Given the description of an element on the screen output the (x, y) to click on. 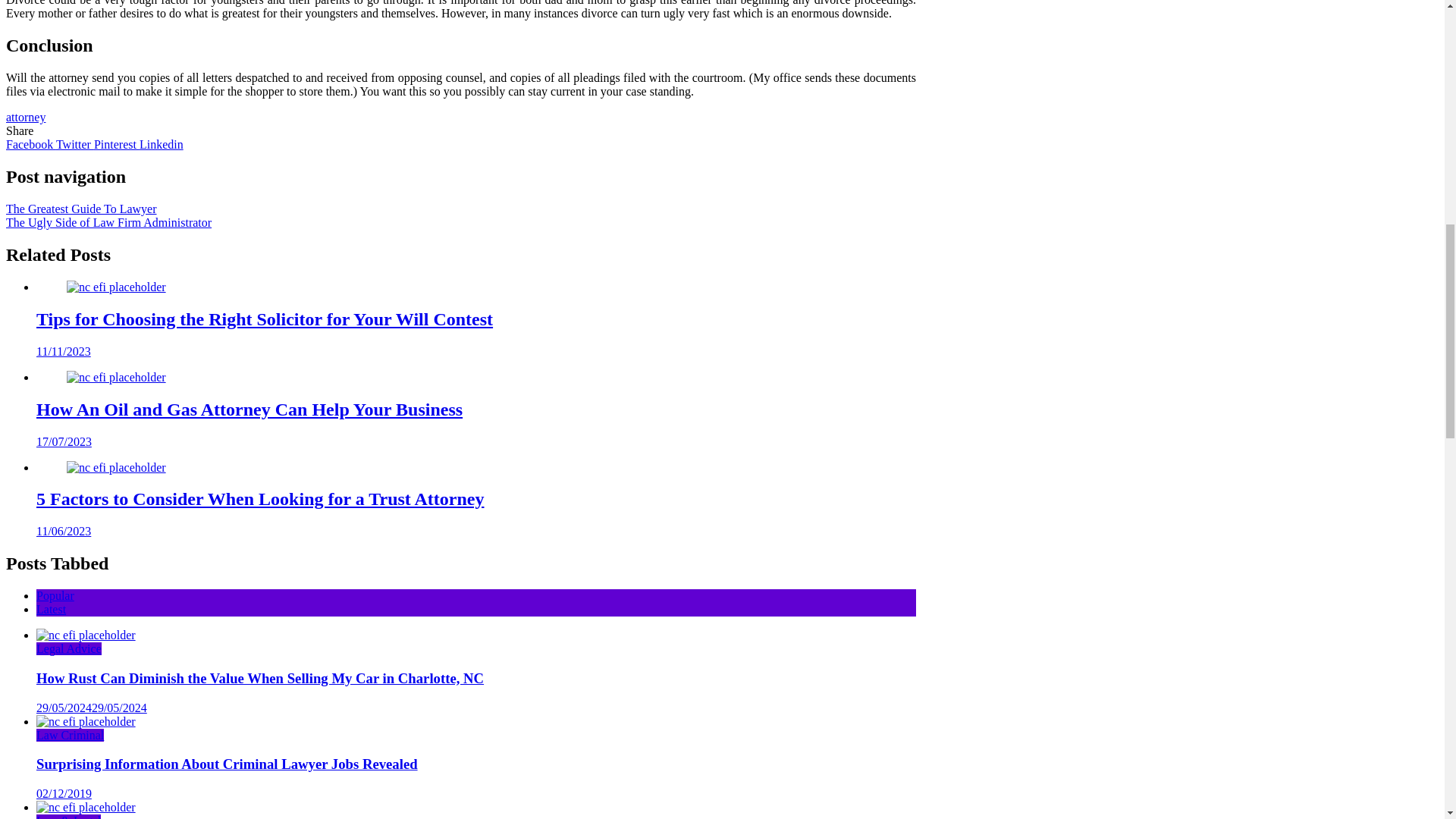
Facebook (30, 144)
Popular (55, 594)
Pinterest (116, 144)
Linkedin (161, 144)
How An Oil and Gas Attorney Can Help Your Business (115, 377)
Latest (50, 608)
attorney (25, 116)
5 Factors to Consider When Looking for a Trust Attorney (115, 468)
Tips for Choosing the Right Solicitor for Your Will Contest (264, 319)
